Given the description of an element on the screen output the (x, y) to click on. 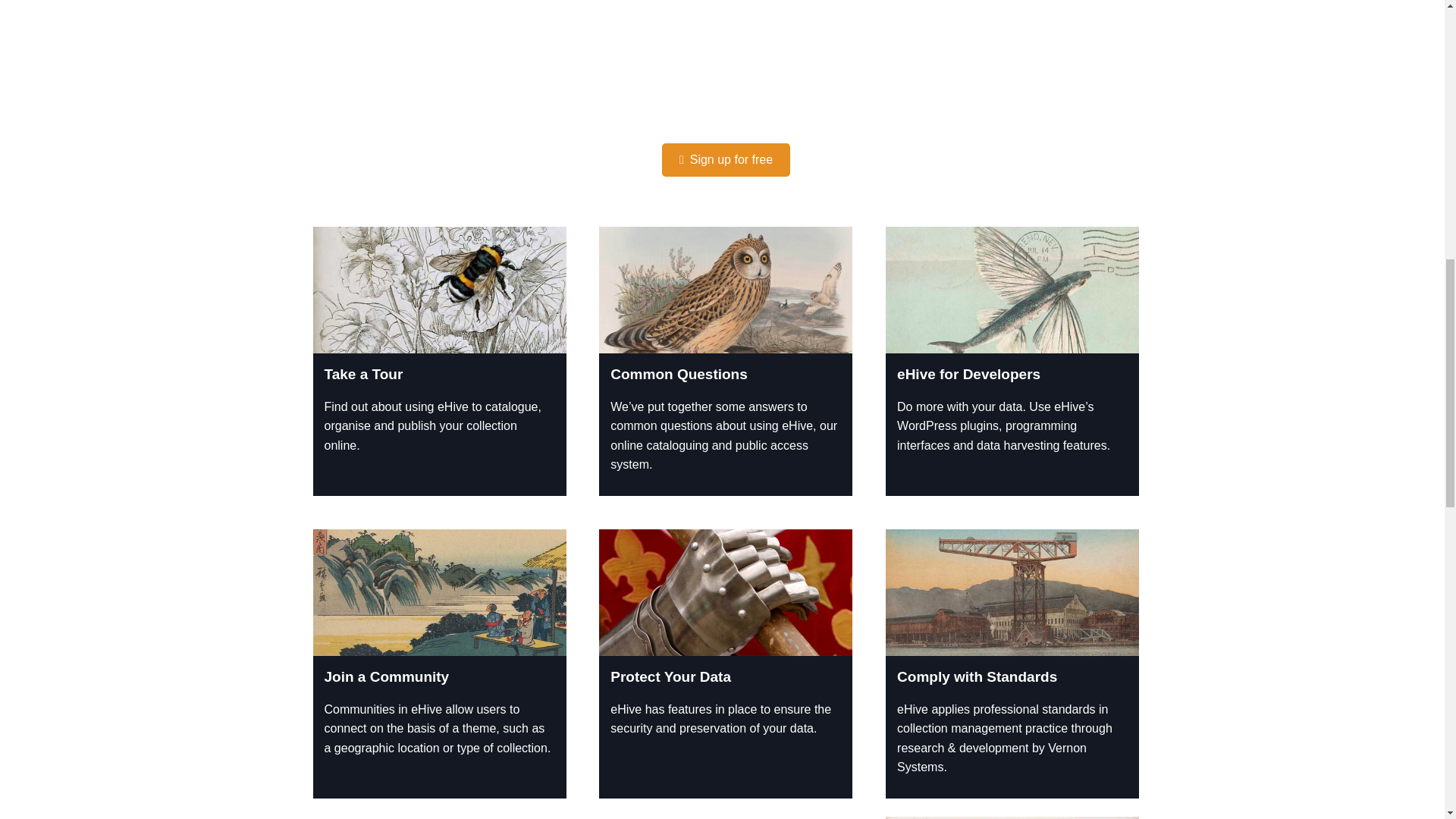
Take a Tour (363, 374)
Common Questions (679, 374)
What is eHive? (726, 51)
Join a Community (386, 676)
Sign up for free (731, 159)
Protect Your Data (670, 676)
eHive for Developers (968, 374)
